Given the description of an element on the screen output the (x, y) to click on. 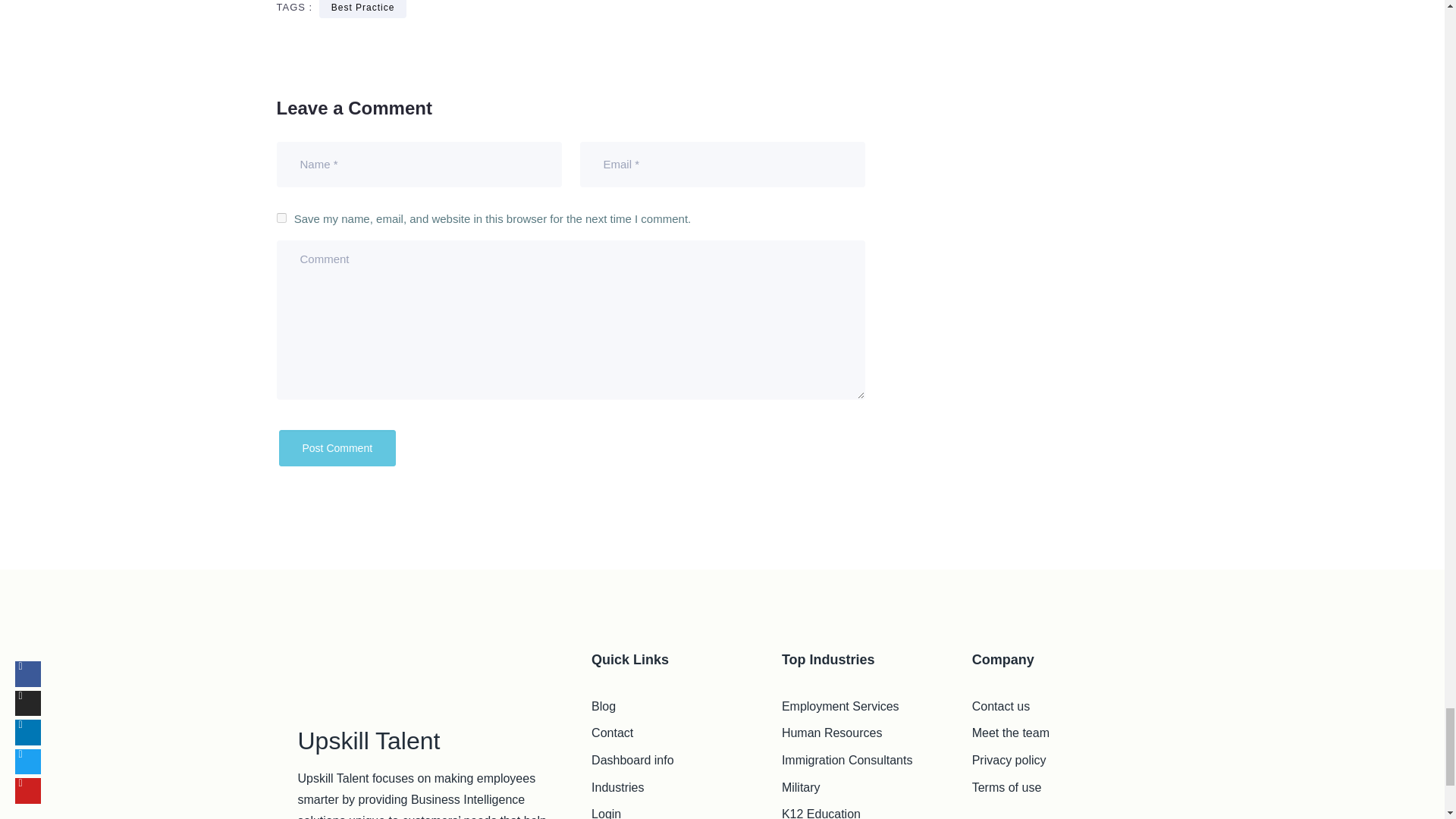
Post Comment (337, 447)
yes (280, 217)
Post Comment (337, 447)
Best Practice (362, 9)
